Given the description of an element on the screen output the (x, y) to click on. 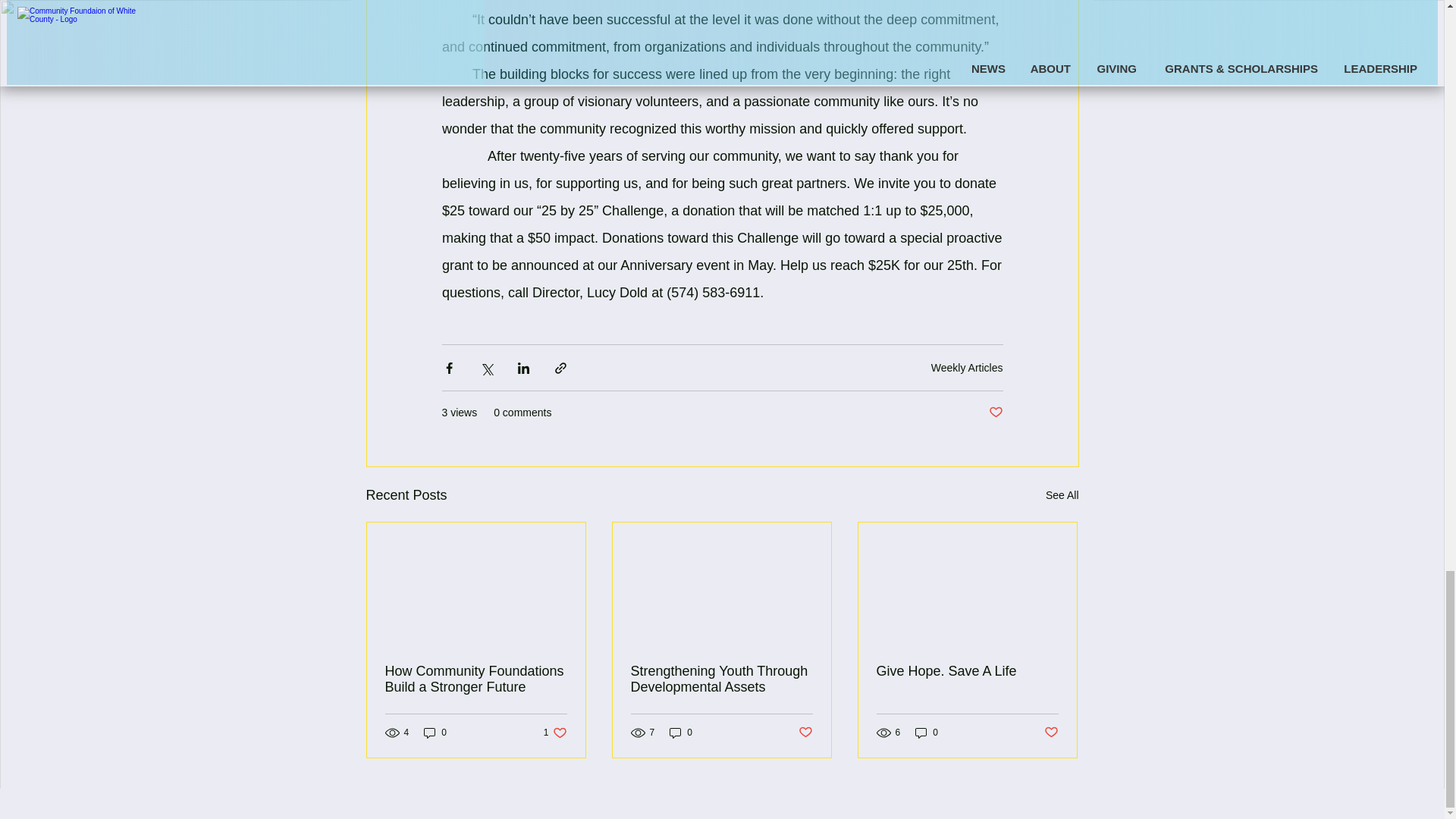
Strengthening Youth Through Developmental Assets (555, 731)
Weekly Articles (721, 679)
See All (967, 367)
Give Hope. Save A Life (1061, 495)
How Community Foundations Build a Stronger Future (967, 671)
0 (476, 679)
0 (435, 731)
0 (681, 731)
Post not marked as liked (926, 731)
